Given the description of an element on the screen output the (x, y) to click on. 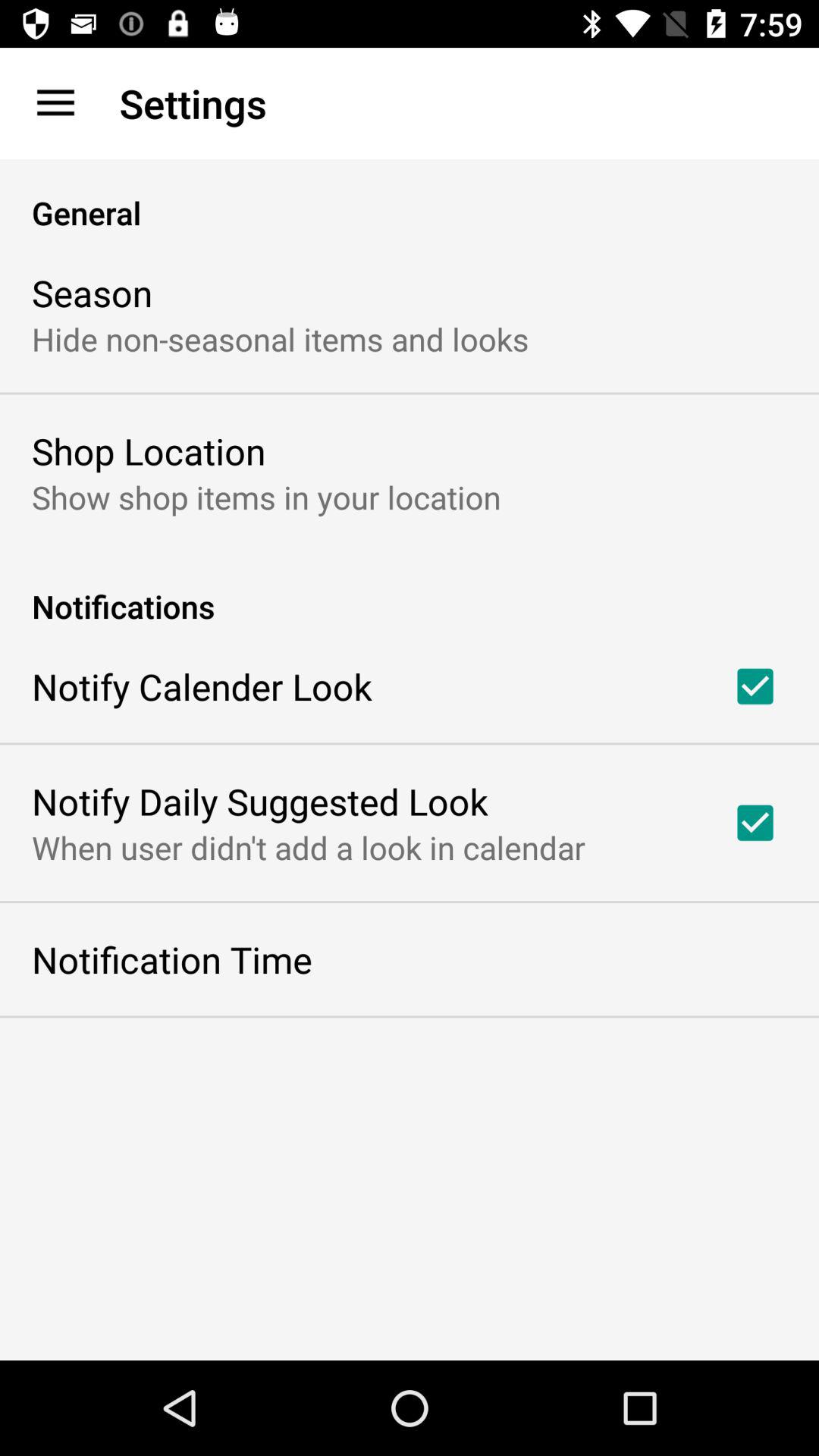
press the icon above when user didn icon (259, 800)
